Given the description of an element on the screen output the (x, y) to click on. 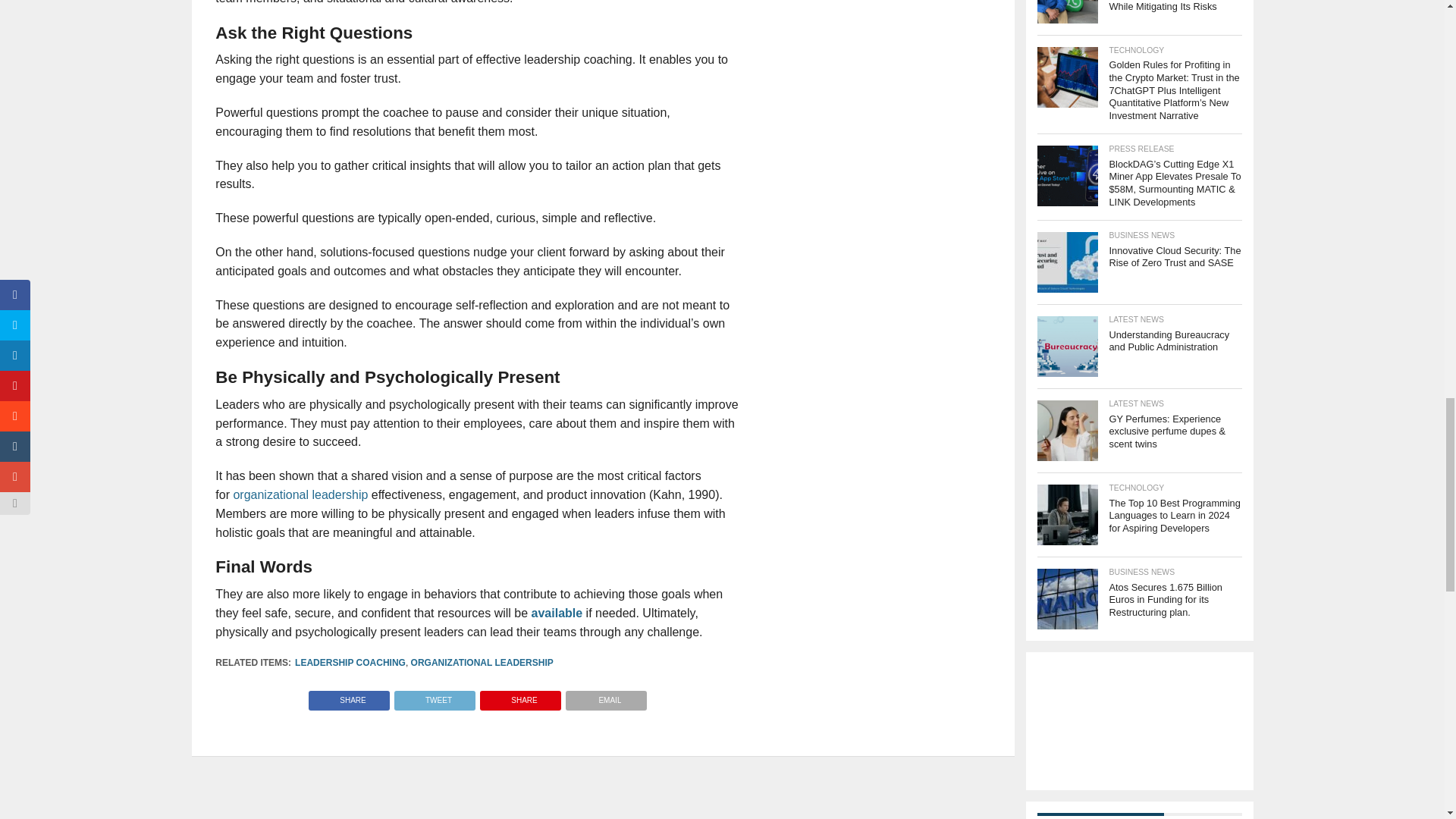
AI-Powered SEO: Boost Your Income! (1138, 720)
Share on Facebook (349, 696)
Tweet This Post (434, 696)
Pin This Post (520, 696)
